Given the description of an element on the screen output the (x, y) to click on. 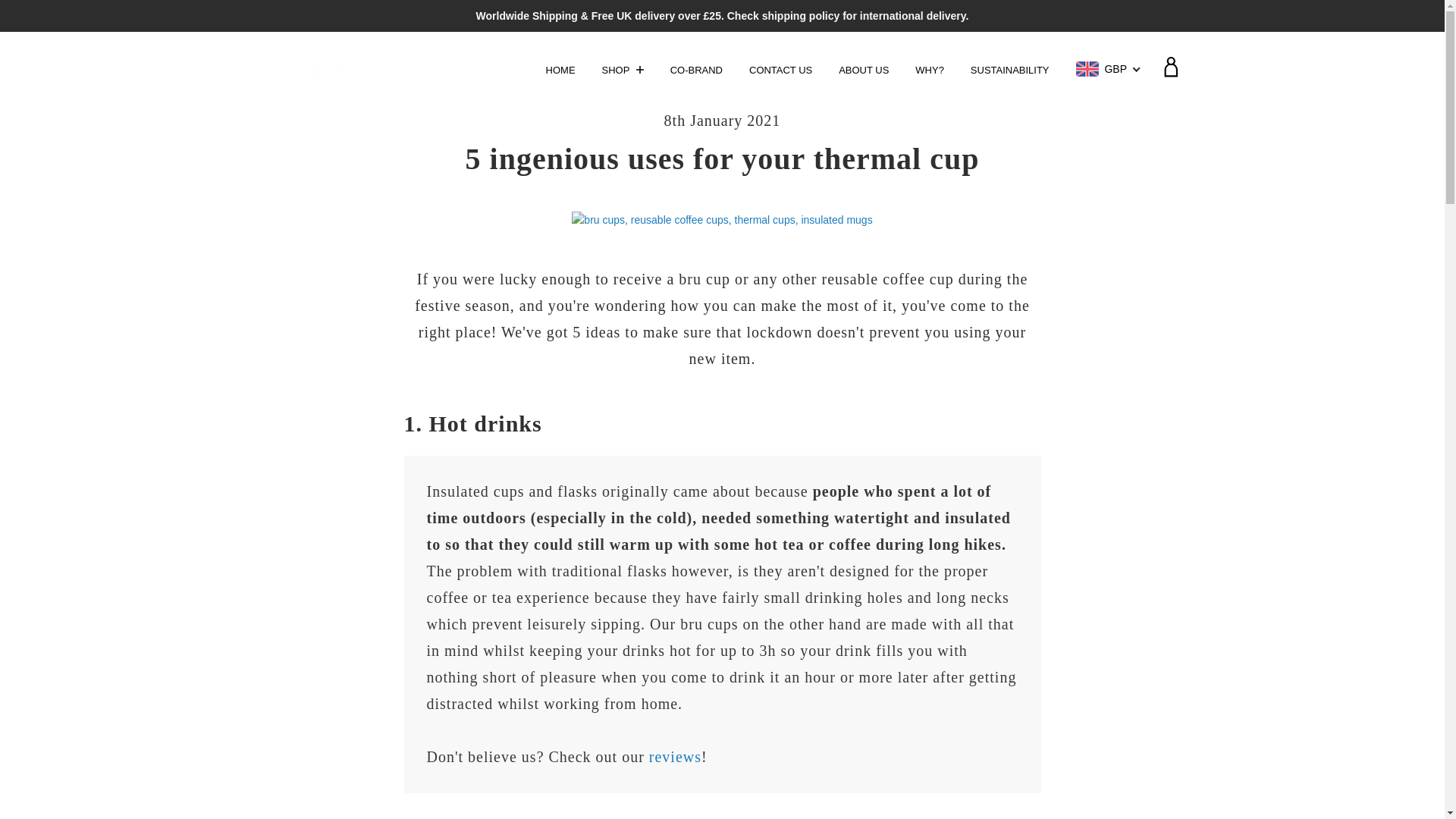
CO-BRAND (697, 69)
reviews (675, 756)
SHOP (624, 69)
CONTACT US (782, 69)
WHY? (932, 69)
HOME (562, 69)
bru cups, reusable coffee cups (722, 219)
bru cups, reusable coffee cups (722, 219)
My Account (1169, 73)
ABOUT US (866, 69)
SUSTAINABILITY (1011, 69)
